Given the description of an element on the screen output the (x, y) to click on. 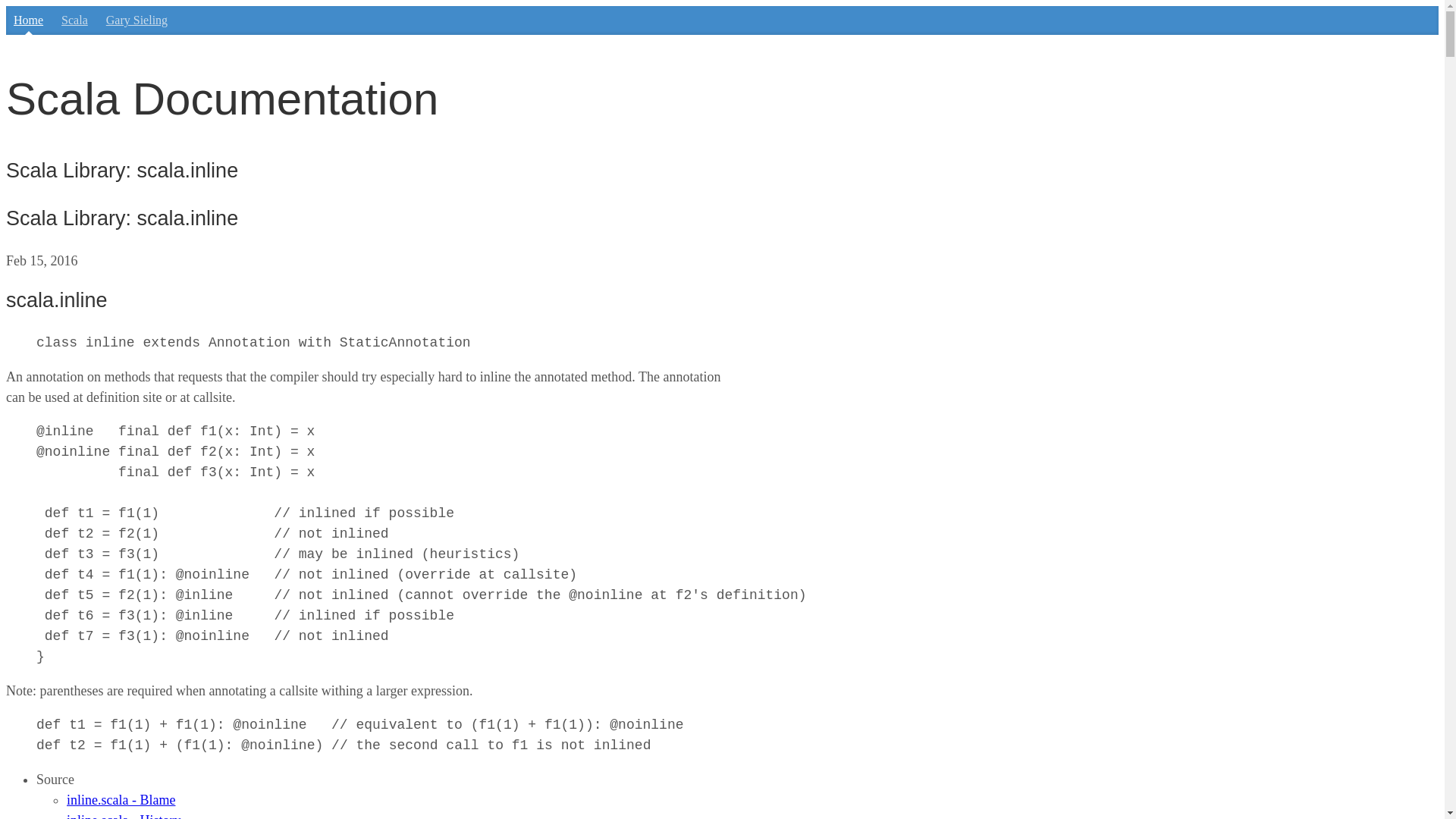
Home (27, 20)
Scala (74, 20)
Gary Sieling (136, 20)
inline.scala - History (123, 816)
inline.scala - Blame (120, 799)
